Given the description of an element on the screen output the (x, y) to click on. 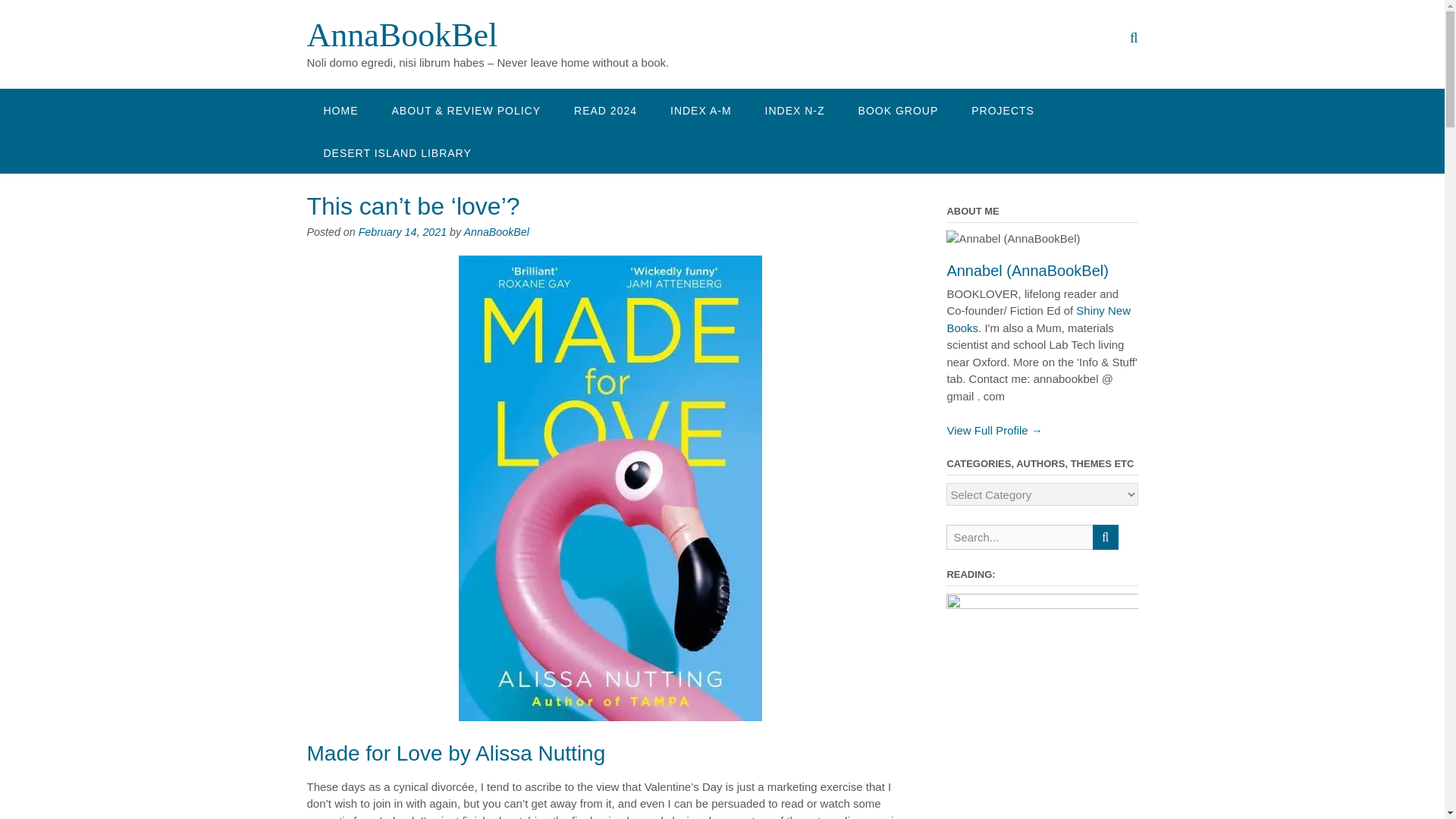
HOME (339, 109)
PROJECTS (1003, 109)
February 14, 2021 (402, 232)
AnnaBookBel (401, 35)
AnnaBookBel (496, 232)
DESERT ISLAND LIBRARY (396, 152)
READ 2024 (605, 109)
Search for: (1019, 536)
INDEX N-Z (794, 109)
AnnaBookBel (401, 35)
INDEX A-M (700, 109)
BOOK GROUP (898, 109)
